Given the description of an element on the screen output the (x, y) to click on. 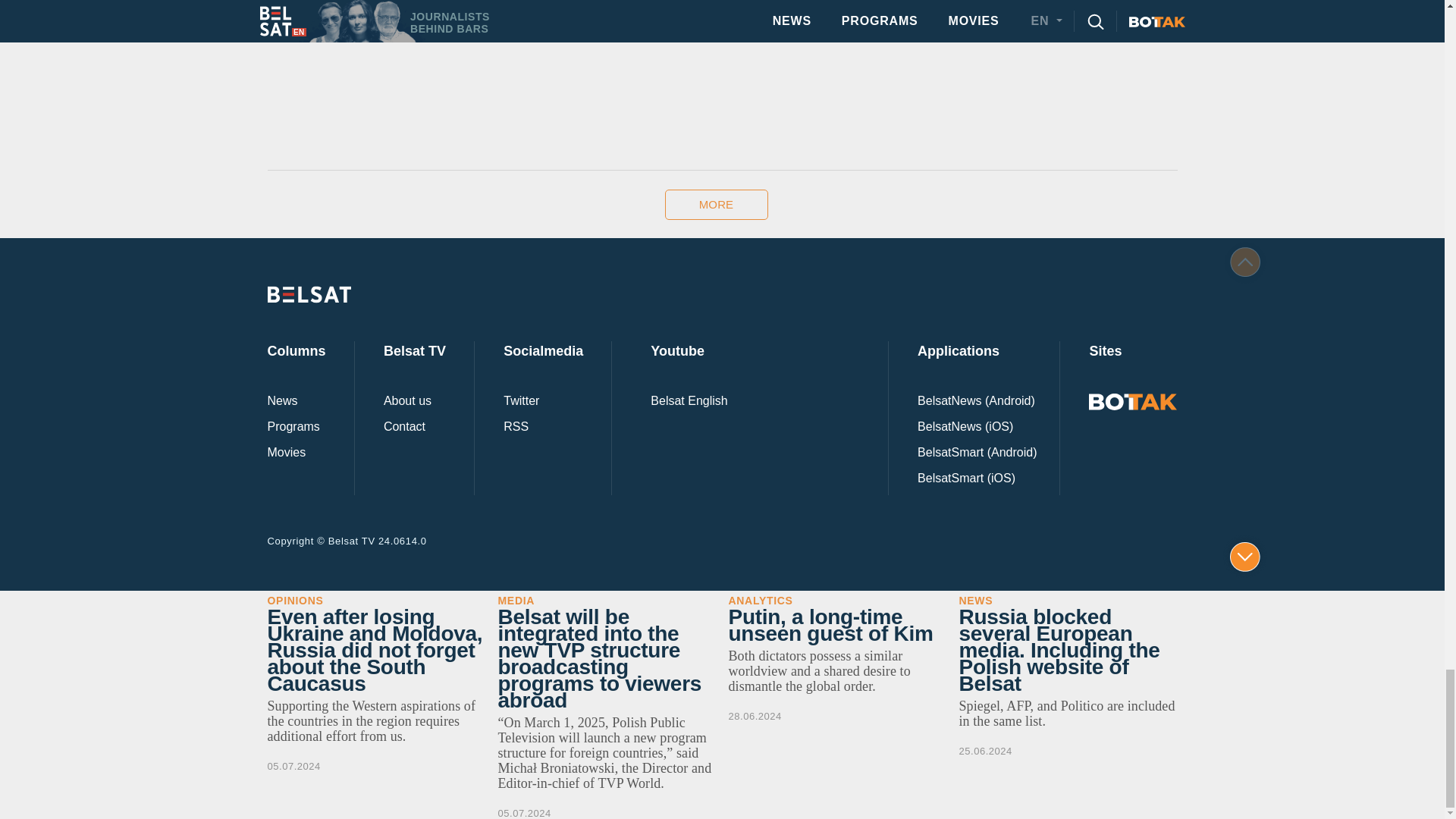
Programs (292, 426)
Contact (404, 426)
RSS (515, 426)
Twitter (520, 401)
News (281, 401)
About us (407, 401)
Movies (285, 452)
Belsat English (688, 401)
